Given the description of an element on the screen output the (x, y) to click on. 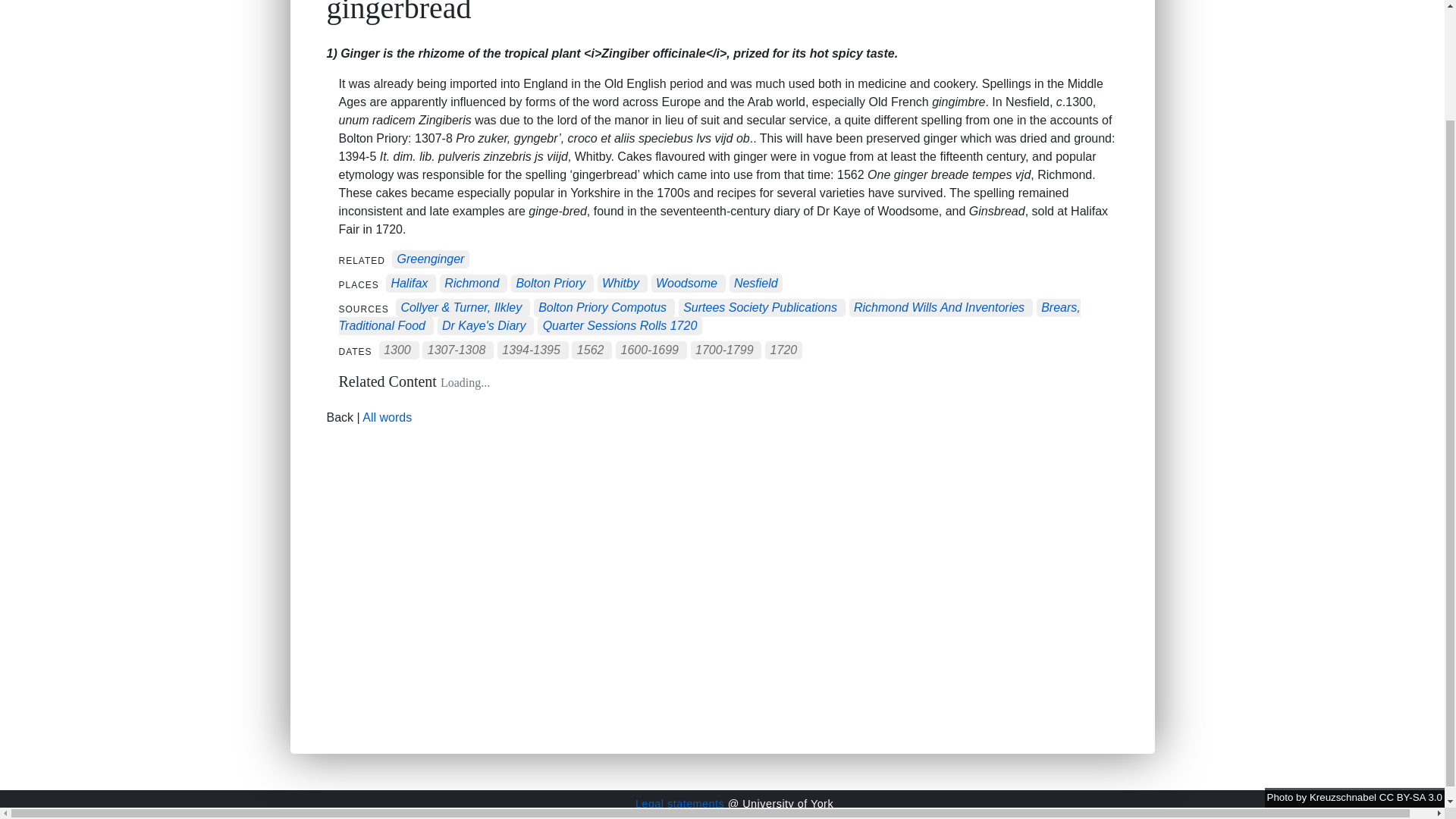
Whitby (620, 283)
Back (339, 417)
Greenginger (430, 259)
Bolton Priory Compotus (602, 308)
Bolton Priory (550, 283)
Legal statements (678, 803)
Woodsome (686, 283)
Dr Kaye'S Diary (483, 326)
All words (387, 417)
CC BY-SA 3.0 (1410, 664)
